Given the description of an element on the screen output the (x, y) to click on. 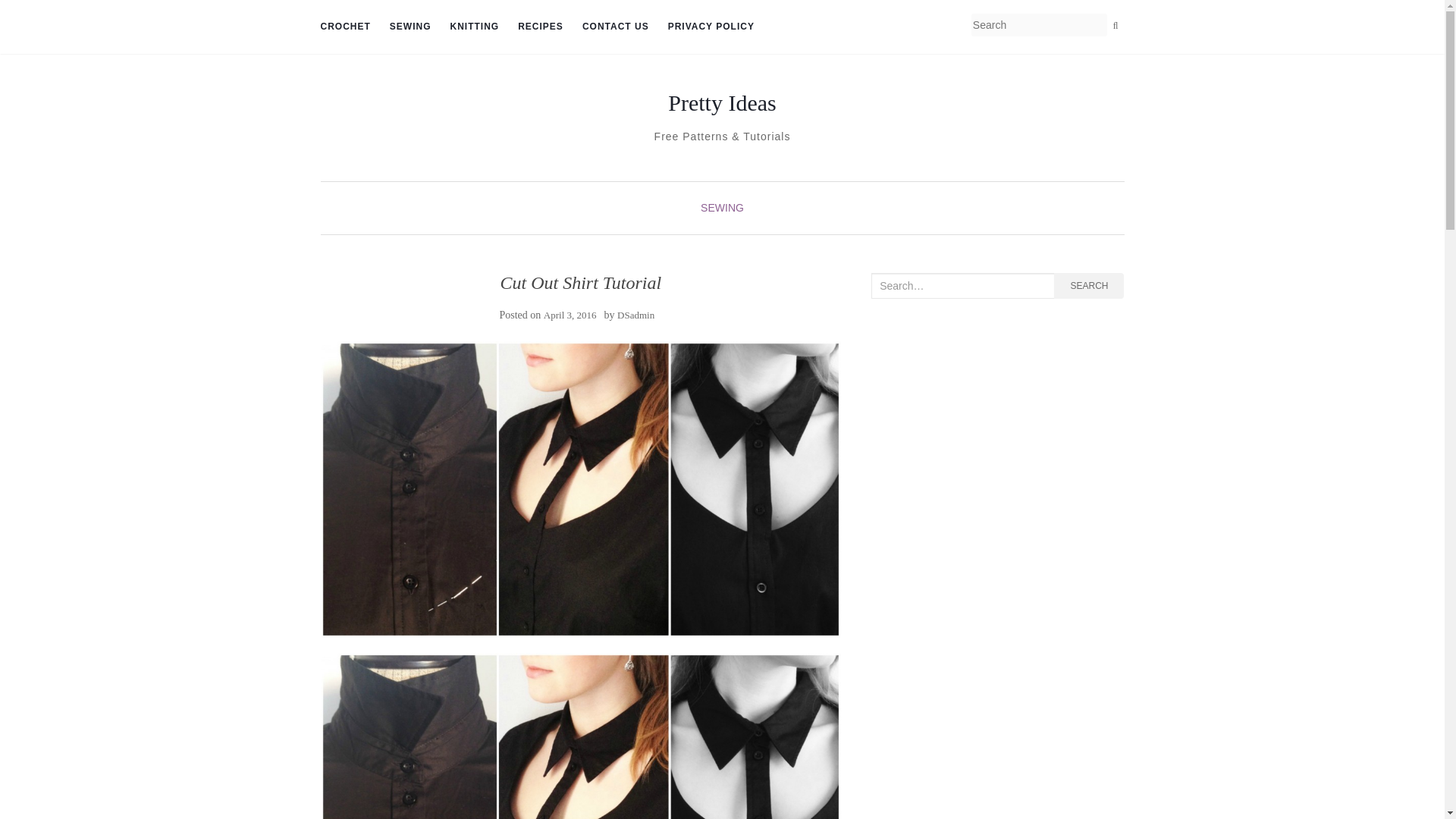
DSadmin (635, 315)
Knitting (474, 27)
Contact Us (615, 27)
KNITTING (474, 27)
Pretty Ideas (722, 102)
Privacy Policy (711, 27)
Search for: (962, 285)
Pretty Ideas (722, 102)
PRIVACY POLICY (711, 27)
